Given the description of an element on the screen output the (x, y) to click on. 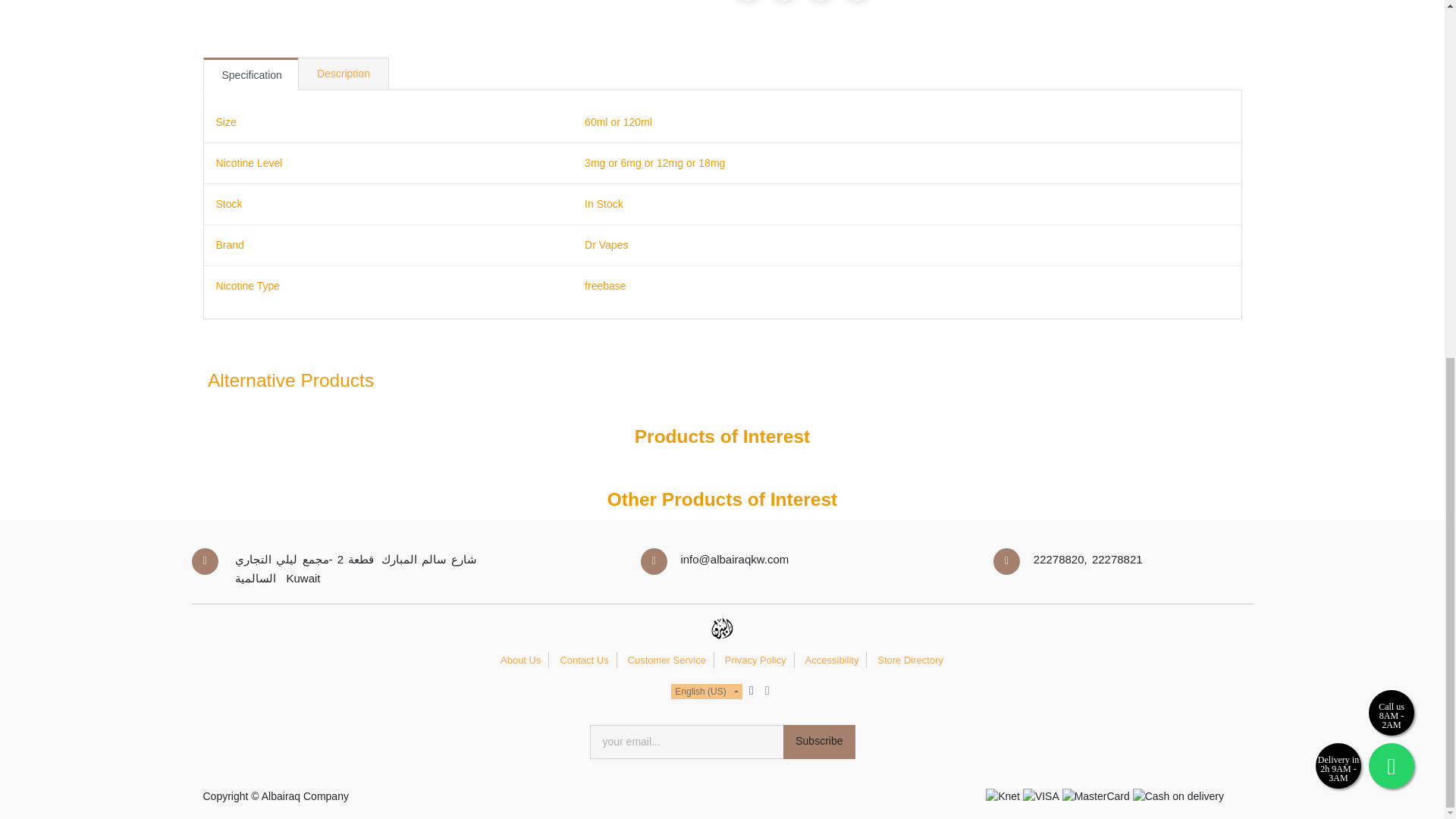
Chat Us on WhatsApp (1390, 135)
Delivery in 2h 9AM - 3AM (1338, 135)
Albairaqkw Website (721, 630)
Call Us (1390, 82)
